Given the description of an element on the screen output the (x, y) to click on. 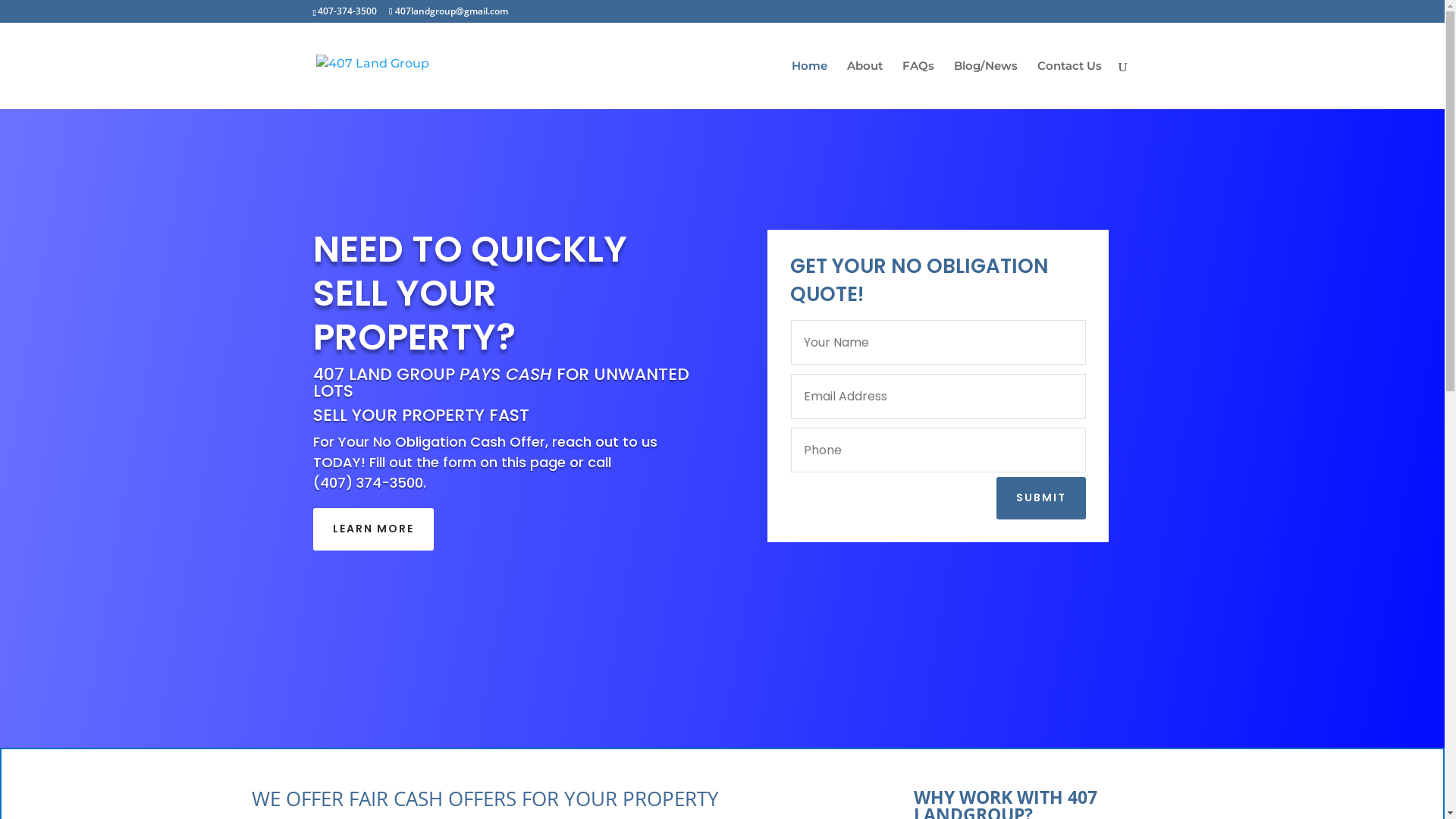
Contact Us Element type: text (1069, 84)
FAQs Element type: text (918, 84)
SUBMIT Element type: text (1040, 497)
Maximum length: 14 characters. Element type: hover (938, 449)
Only letters allowed. Element type: hover (938, 342)
Blog/News Element type: text (985, 84)
LEARN MORE Element type: text (372, 529)
About Element type: text (863, 84)
407landgroup@gmail.com Element type: text (448, 10)
407-374-3500 Element type: text (346, 10)
Home Element type: text (809, 84)
